Given the description of an element on the screen output the (x, y) to click on. 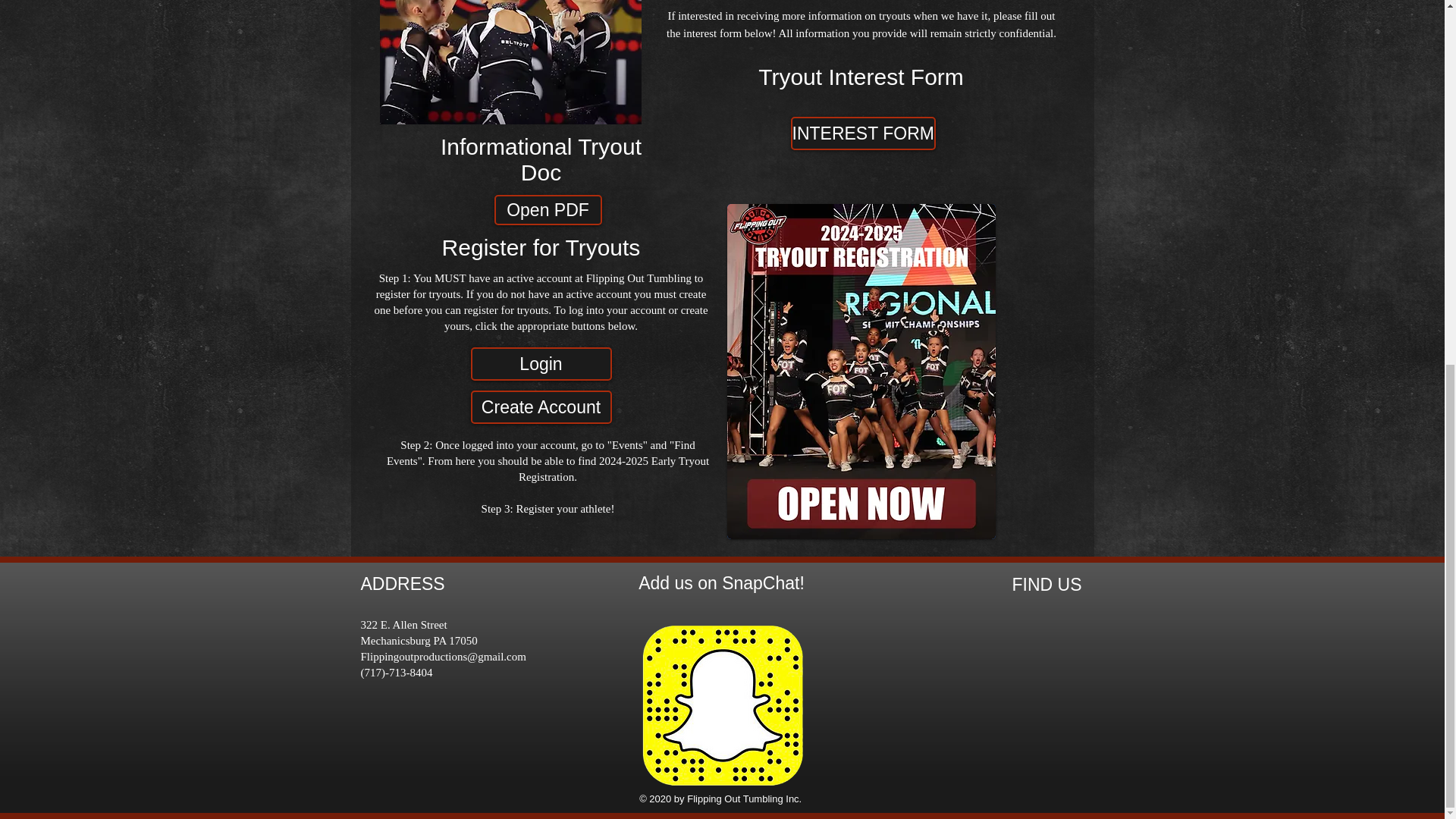
Login (540, 363)
Create Account (540, 407)
Open PDF (548, 209)
Google Maps (974, 681)
INTEREST FORM (862, 133)
